Given the description of an element on the screen output the (x, y) to click on. 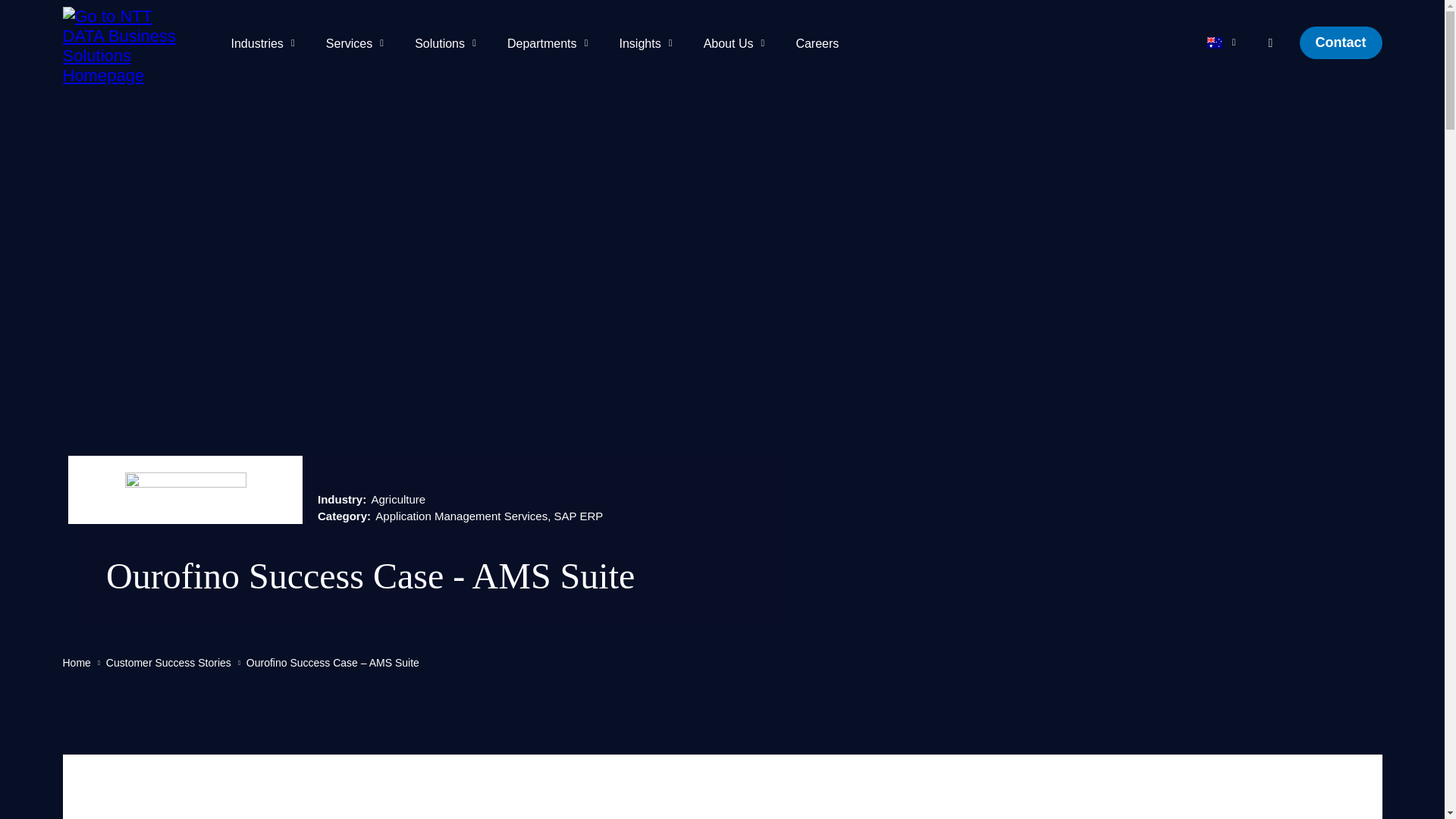
Solutions (448, 42)
Departments (550, 42)
Industries (266, 42)
Services (357, 42)
Insights (649, 42)
